Given the description of an element on the screen output the (x, y) to click on. 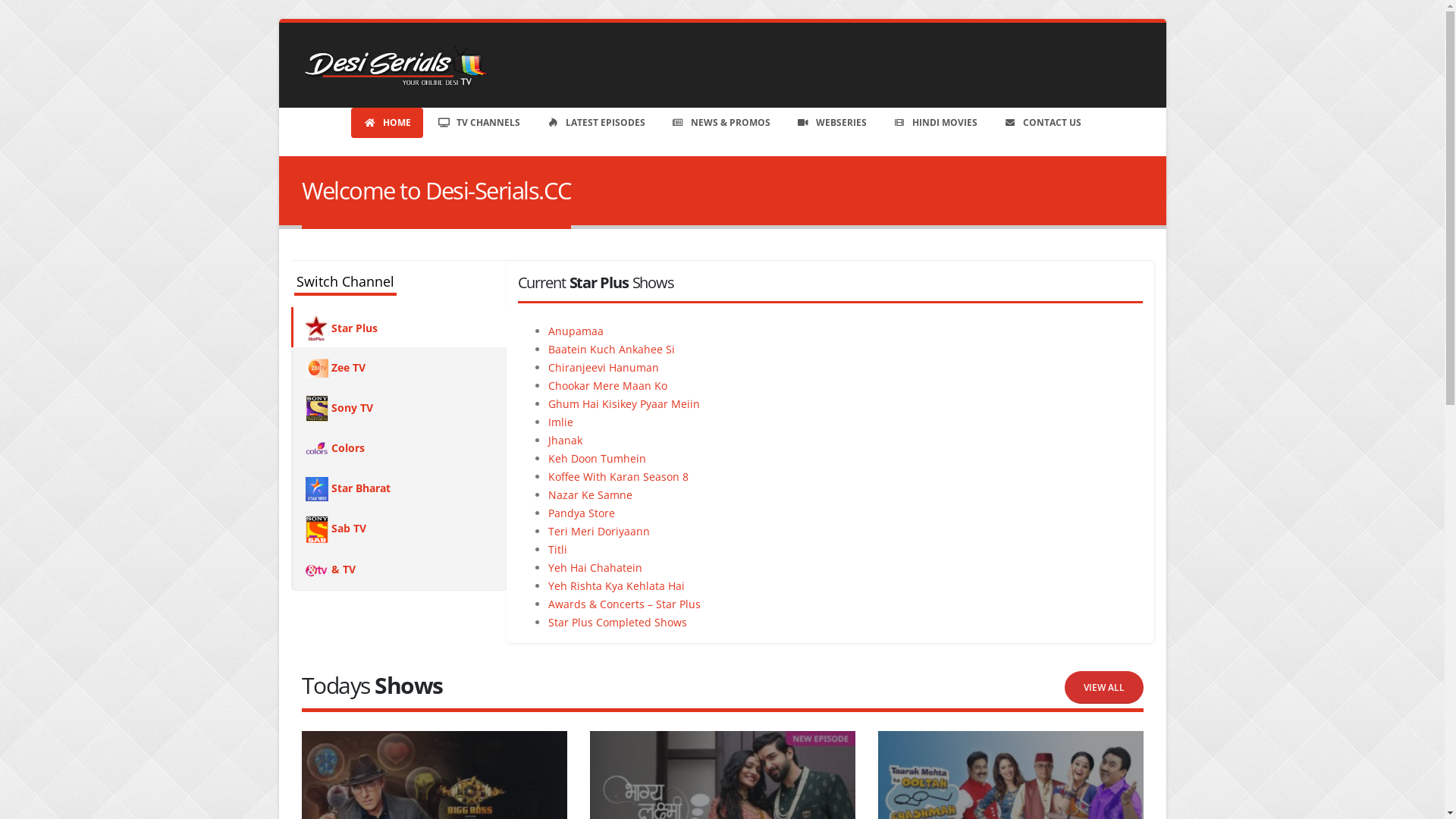
Sab TV Element type: text (398, 528)
Star Bharat Element type: text (398, 487)
Nazar Ke Samne Element type: text (589, 494)
HOME Element type: text (387, 122)
WEBSERIES Element type: text (831, 122)
Jhanak Element type: text (564, 440)
Star Plus Element type: text (398, 327)
Zee TV Element type: text (398, 367)
Desi-Serials.CC - Your online Desi TV Element type: hover (396, 65)
Baatein Kuch Ankahee Si Element type: text (610, 349)
NEWS & PROMOS Element type: text (720, 122)
CONTACT US Element type: text (1042, 122)
Yeh Rishta Kya Kehlata Hai Element type: text (615, 585)
LATEST EPISODES Element type: text (595, 122)
Colors Element type: text (398, 447)
Pandya Store Element type: text (580, 512)
Chookar Mere Maan Ko Element type: text (606, 385)
Ghum Hai Kisikey Pyaar Meiin Element type: text (623, 403)
VIEW ALL Element type: text (1103, 687)
Teri Meri Doriyaann Element type: text (598, 531)
Imlie Element type: text (559, 421)
TV CHANNELS Element type: text (478, 122)
Koffee With Karan Season 8 Element type: text (617, 476)
& TV Element type: text (398, 569)
Yeh Hai Chahatein Element type: text (594, 567)
Sony TV Element type: text (398, 407)
Keh Doon Tumhein Element type: text (596, 458)
Star Plus Completed Shows Element type: text (616, 622)
Chiranjeevi Hanuman Element type: text (602, 367)
Anupamaa Element type: text (574, 330)
VIEW ALL Element type: text (1103, 684)
HINDI MOVIES Element type: text (934, 122)
Titli Element type: text (556, 549)
